Given the description of an element on the screen output the (x, y) to click on. 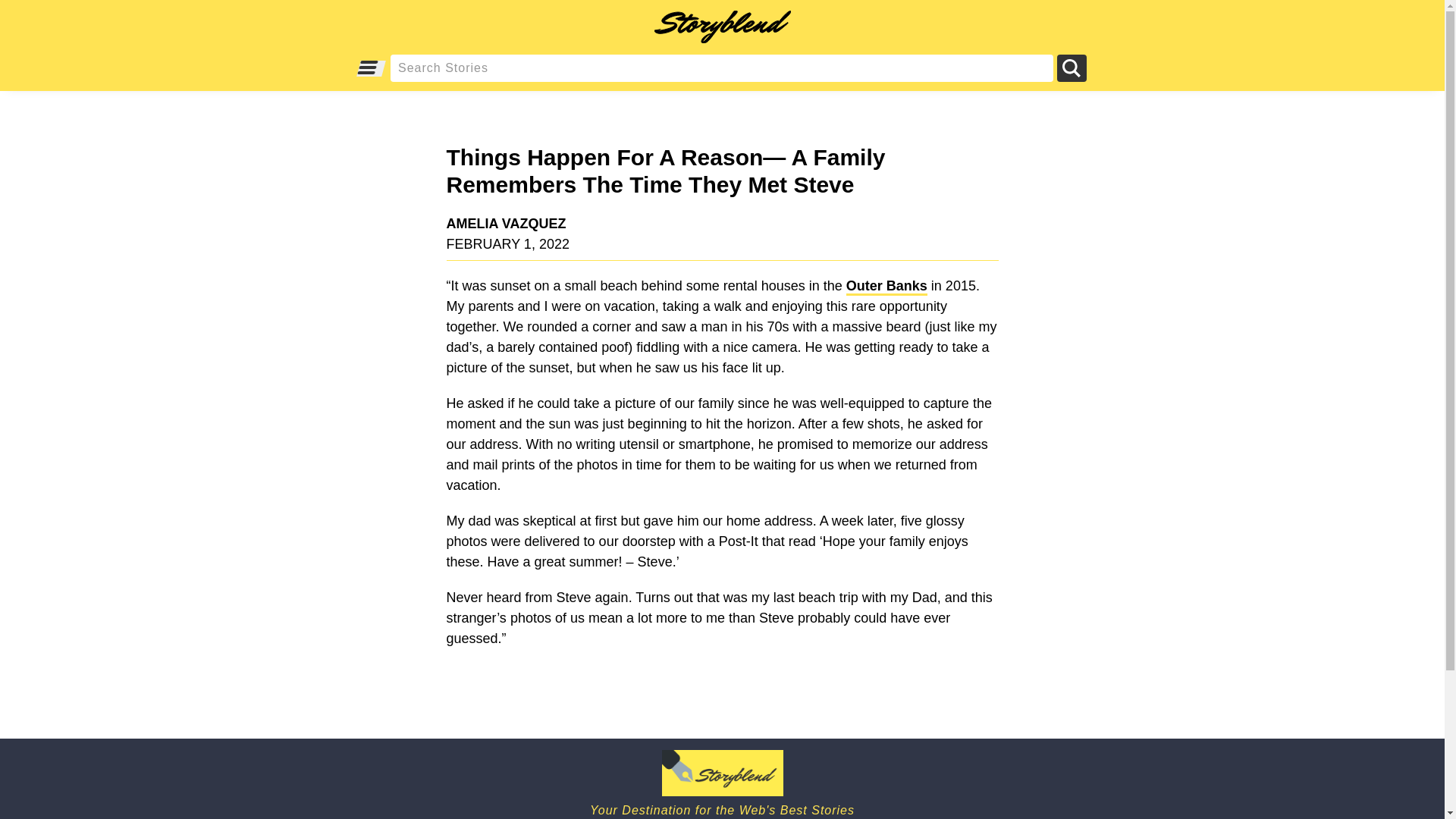
Search (1071, 67)
Outer Banks (886, 286)
Home (721, 783)
Storyblend (721, 26)
AMELIA VAZQUEZ (717, 223)
Search (1071, 67)
Search (1071, 67)
Toggle Menu (368, 68)
